Given the description of an element on the screen output the (x, y) to click on. 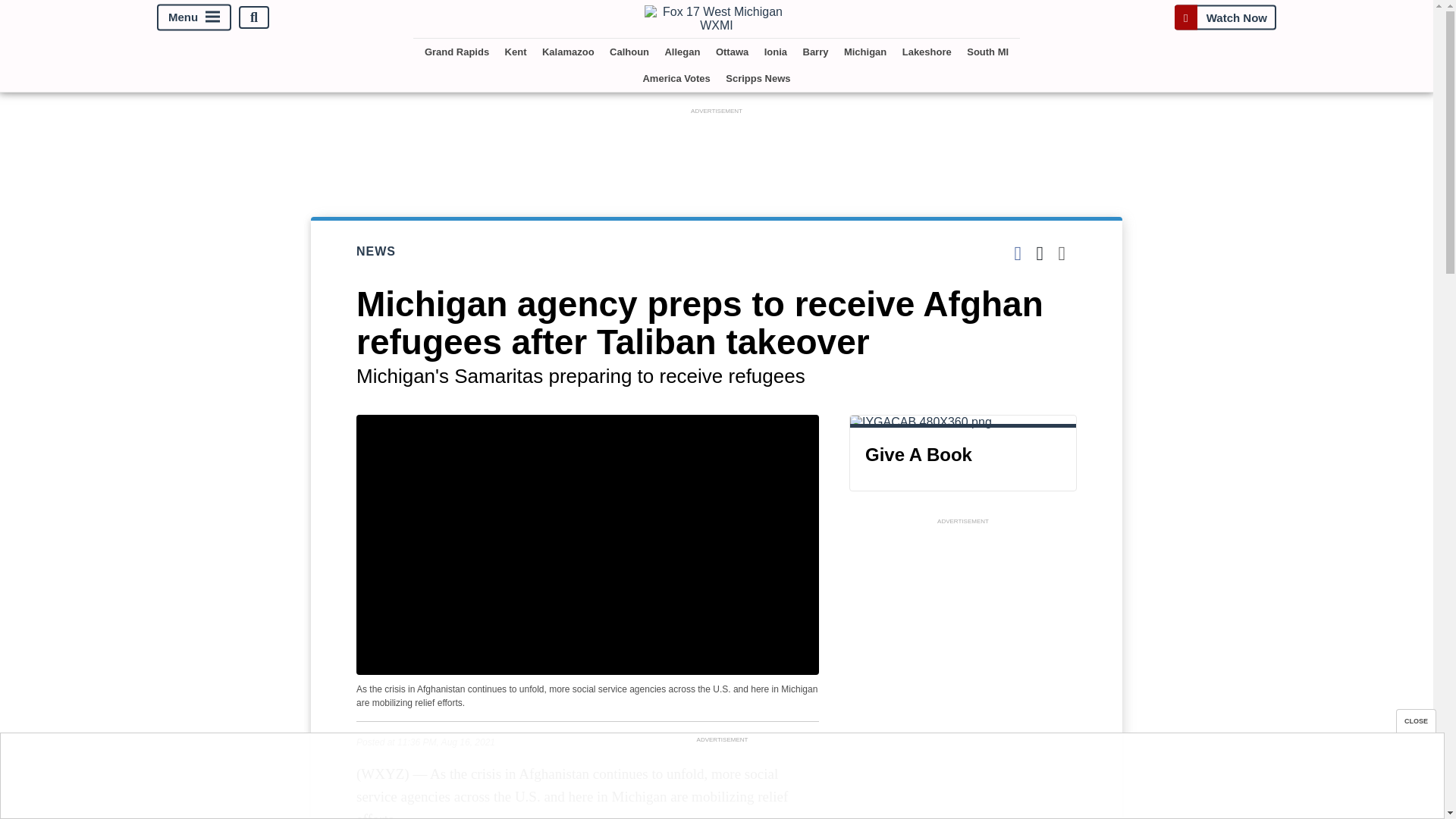
Menu (194, 17)
3rd party ad content (721, 780)
Watch Now (1224, 16)
3rd party ad content (962, 623)
3rd party ad content (715, 151)
